Given the description of an element on the screen output the (x, y) to click on. 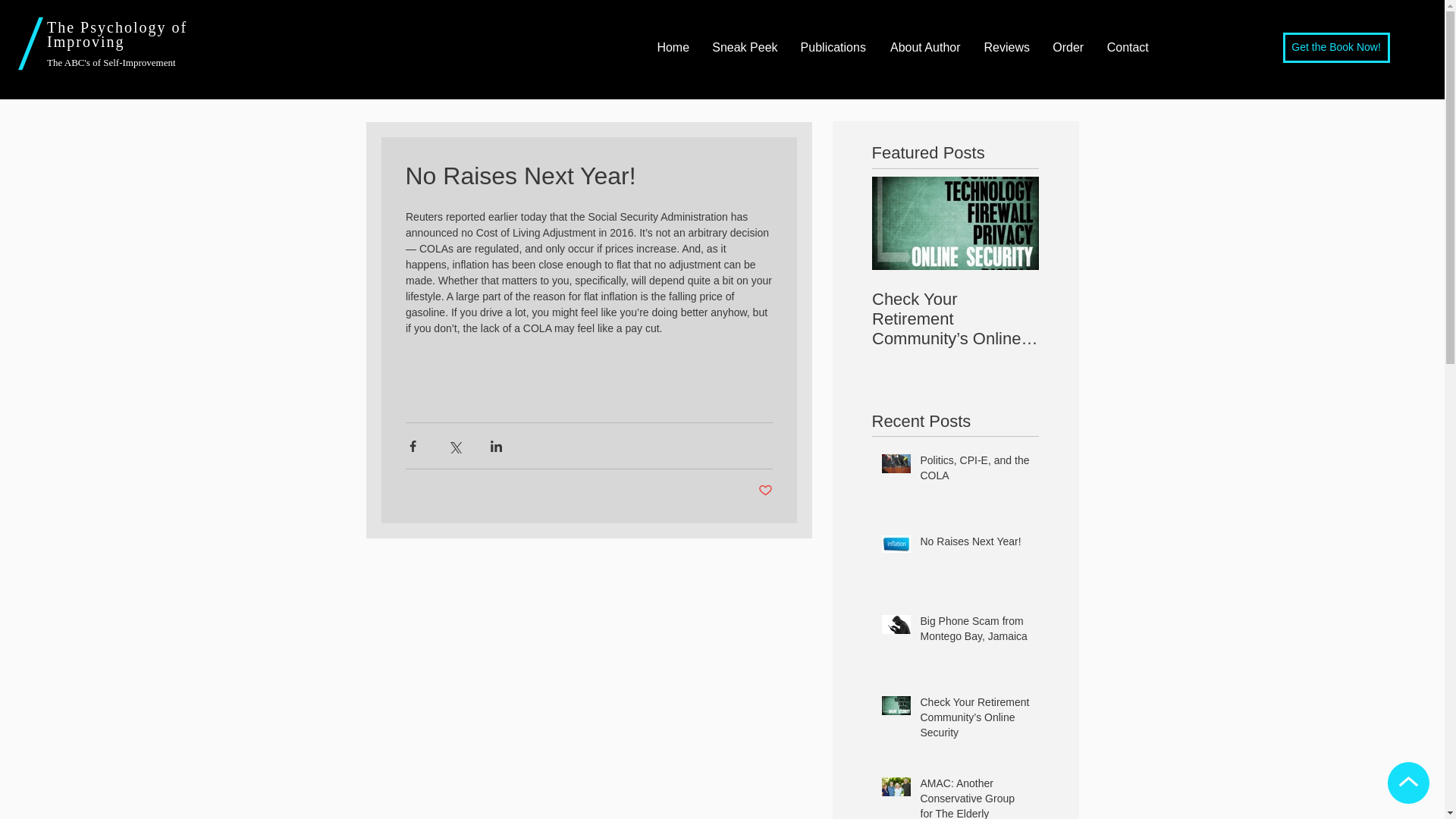
Reviews (1006, 47)
About Author (924, 47)
The ABC's of Self-Improvement (111, 61)
Big Phone Scam from Montego Bay, Jamaica (974, 632)
Contact (1127, 47)
No Raises Next Year! (974, 545)
Get the Book Now! (1336, 47)
Publications (832, 47)
Home (672, 47)
The Psychology of Improving (116, 33)
